Given the description of an element on the screen output the (x, y) to click on. 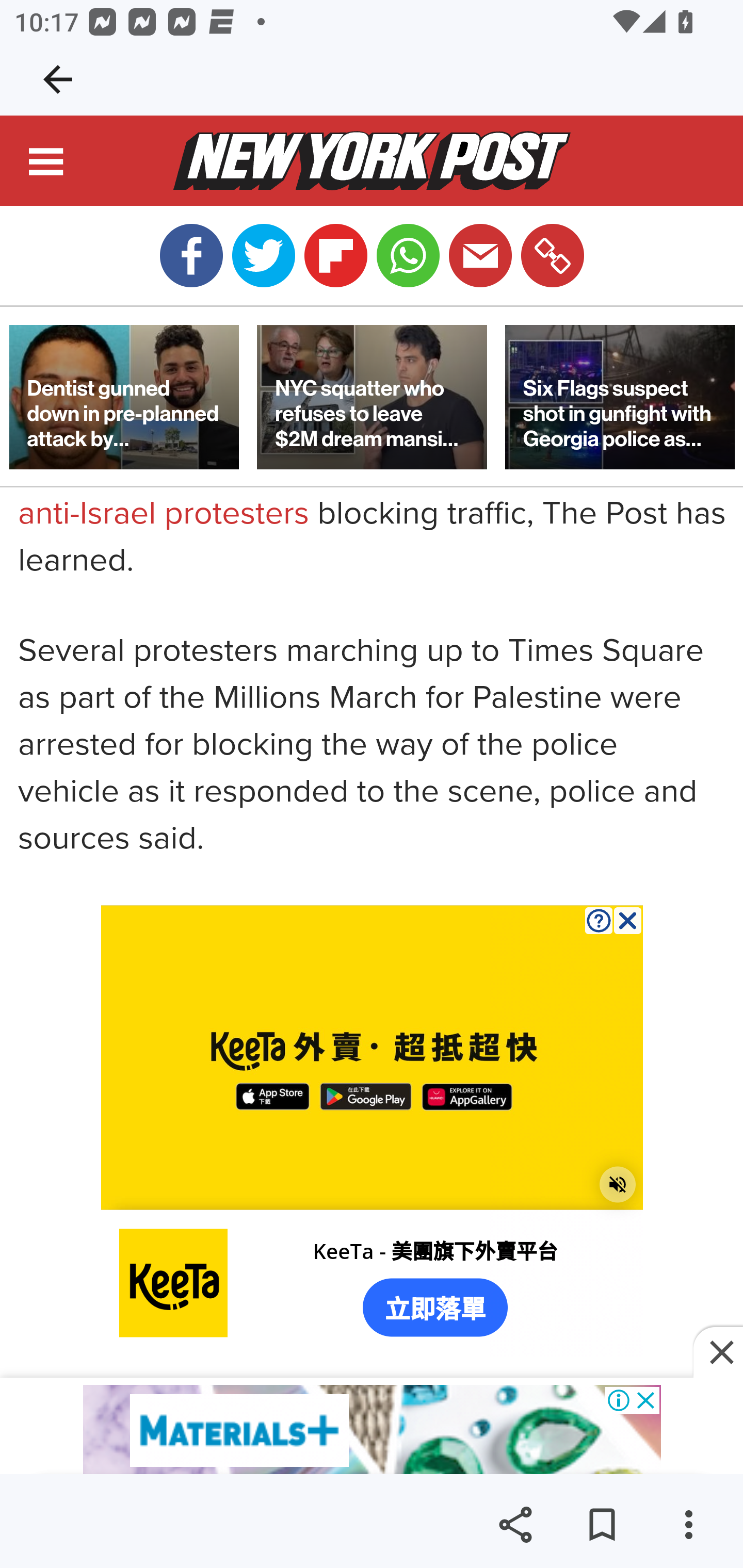
Navigate up (57, 79)
nypost (371, 161)
navigation menu (46, 165)
Click to share on Facebook (191, 256)
Click to share on Twitter (263, 256)
Click to share on Flipboard (335, 256)
Click to share on Whatsapp (407, 256)
Click to email a link to a friend (480, 256)
Click to copy URL (552, 256)
due to anti-Israel protesters (338, 492)
Close this ad (718, 1352)
Share (514, 1524)
Save for later (601, 1524)
More options (688, 1524)
